Given the description of an element on the screen output the (x, y) to click on. 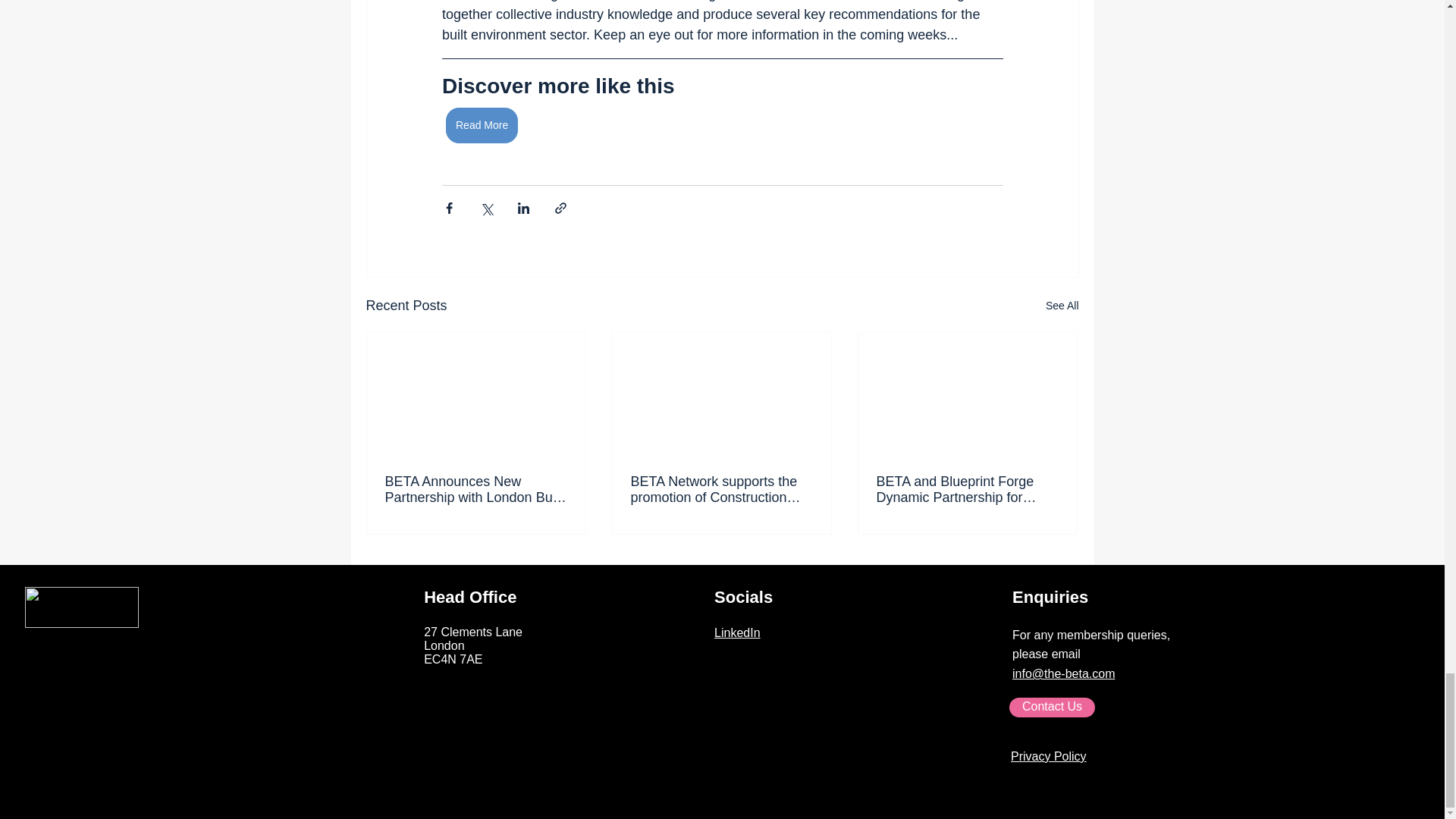
Read More (481, 125)
LinkedIn (737, 632)
BETA and Blueprint Forge Dynamic Partnership for Vegas 2024 (967, 490)
Beta logo tagline white.png (81, 607)
Privacy Policy (1048, 756)
BETA Announces New Partnership with London Build Expo 2024! (476, 490)
Contact Us (1051, 707)
See All (1061, 305)
